Given the description of an element on the screen output the (x, y) to click on. 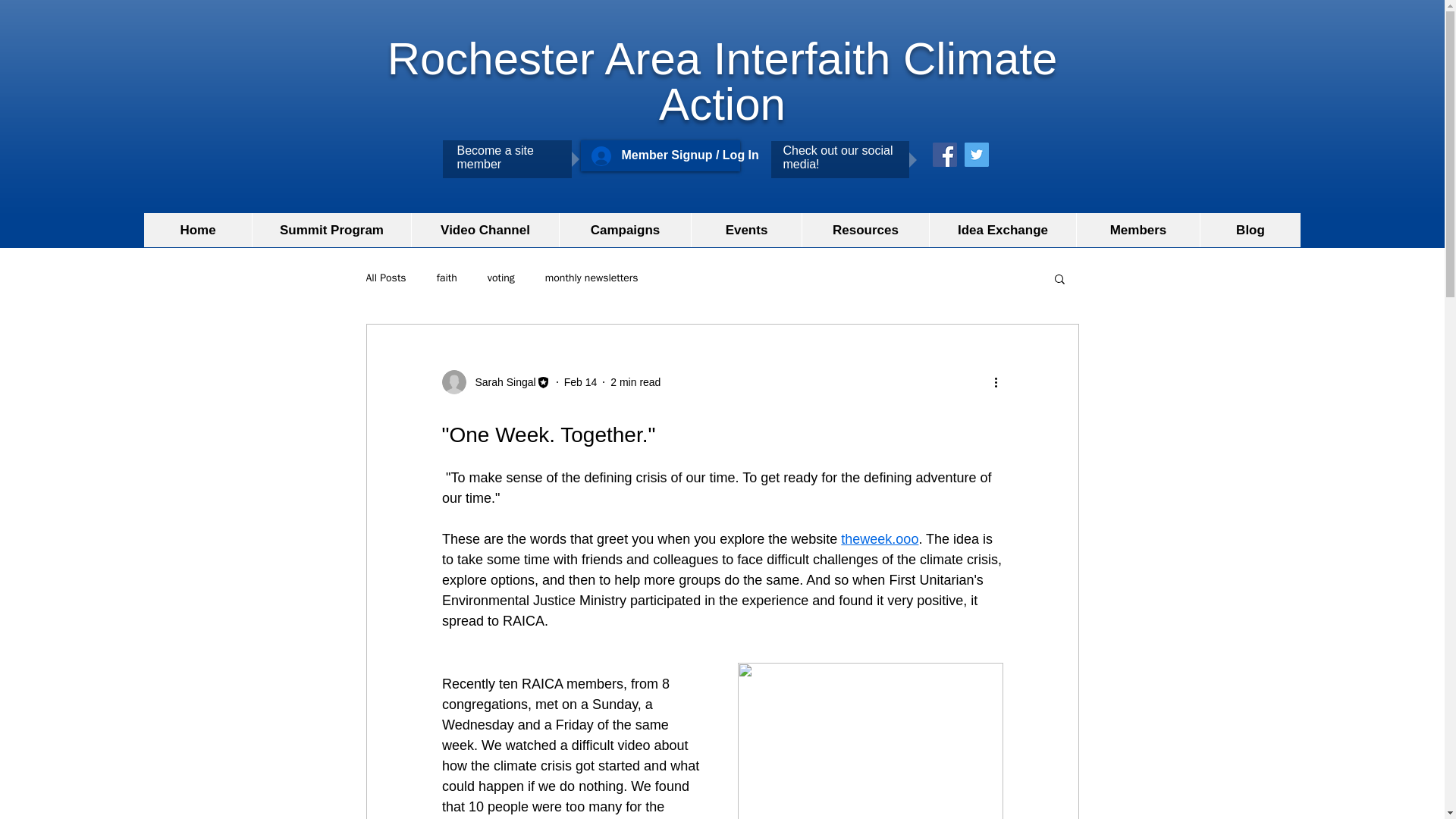
Sarah Singal (495, 381)
Feb 14 (580, 381)
Home (197, 229)
Video Channel (484, 229)
Idea Exchange (1001, 229)
Resources (865, 229)
faith (446, 278)
2 min read (635, 381)
Summit Program (330, 229)
All Posts (385, 278)
